Given the description of an element on the screen output the (x, y) to click on. 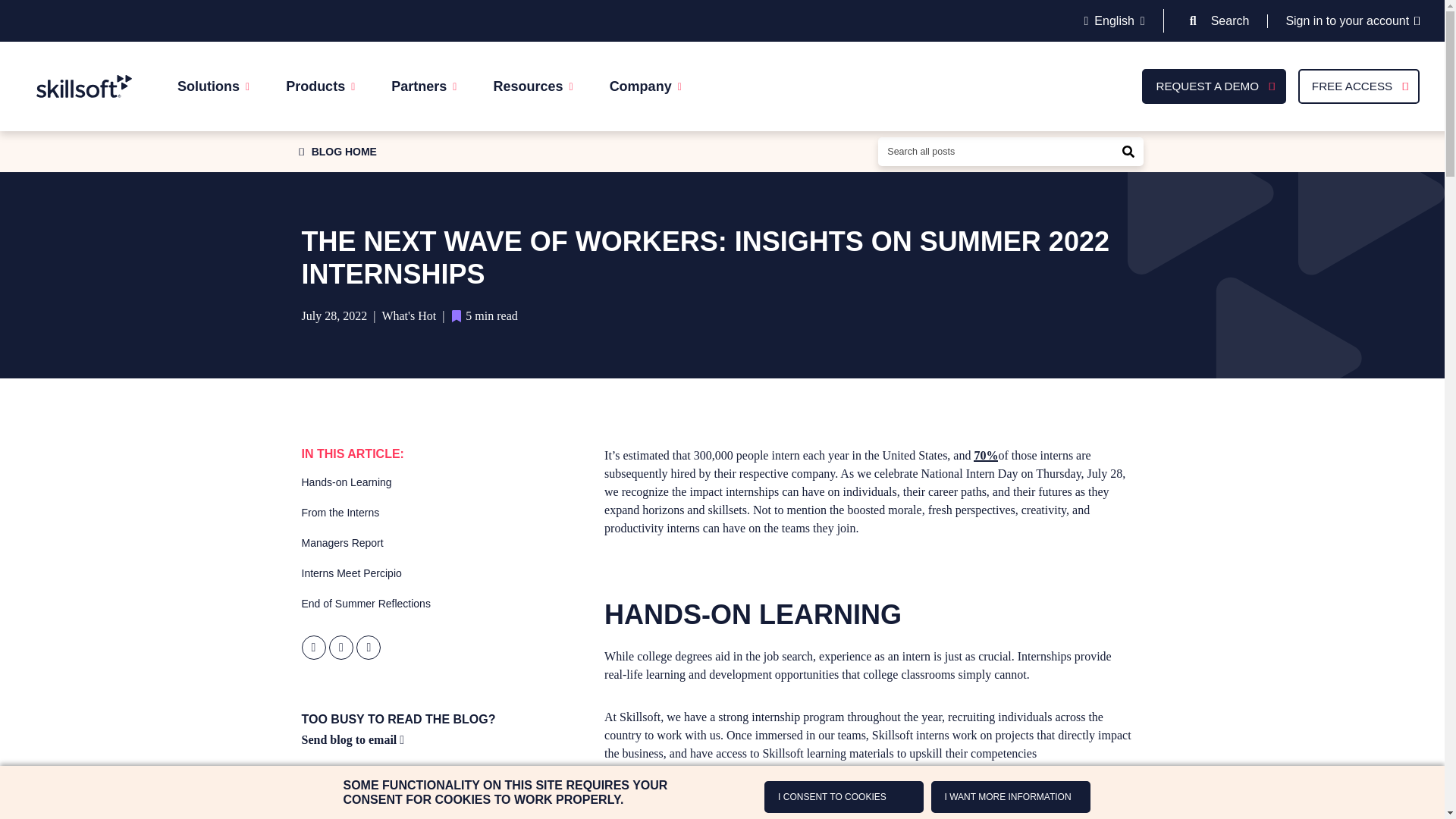
Sign in to your account (1352, 20)
Open Search Dialog (1192, 20)
I CONSENT TO COOKIES (843, 797)
I WANT MORE INFORMATION (1010, 797)
